Given the description of an element on the screen output the (x, y) to click on. 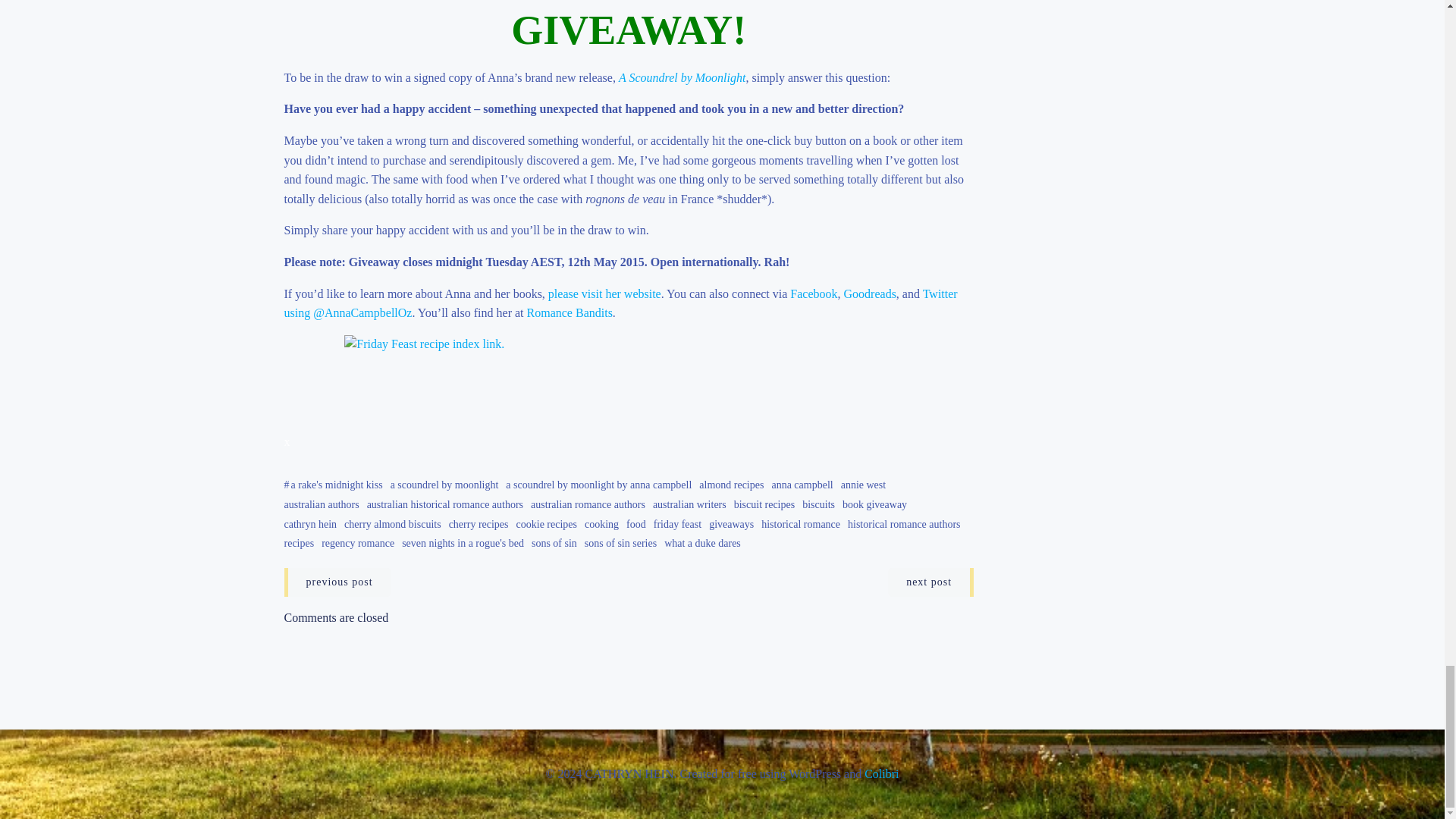
Annie West Tag (863, 484)
almond recipes Tag (730, 484)
A Scoundrel by Moonlight by Anna Campbell Tag (598, 484)
Biscuit recipes Tag (763, 504)
Australian Writers Tag (689, 504)
Australian Authors Tag (320, 504)
Friday Feast Recipe Index (628, 377)
A Rake's Midnight Kiss Tag (336, 484)
Australian historical romance authors Tag (444, 504)
Australian romance authors Tag (588, 504)
A Scoundrel by Moonlight Tag (444, 484)
Anna Campbell Tag (801, 484)
